Given the description of an element on the screen output the (x, y) to click on. 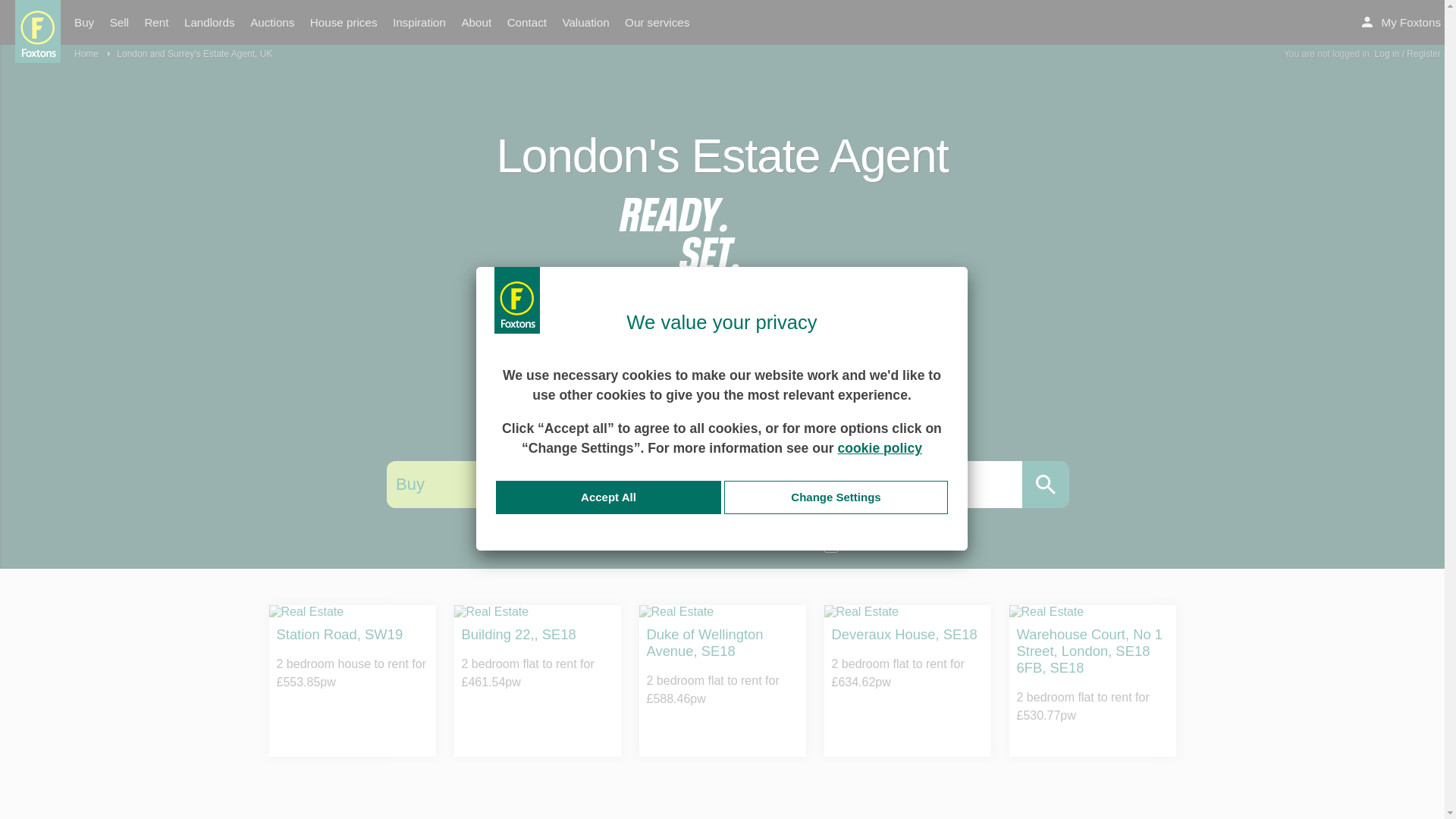
Home (92, 53)
School (895, 427)
Contact (526, 22)
Near me (668, 427)
Our services (656, 22)
Buy (432, 484)
Auctions (271, 22)
Valuation (585, 22)
Draw (725, 427)
Get a Valuation (721, 369)
